Given the description of an element on the screen output the (x, y) to click on. 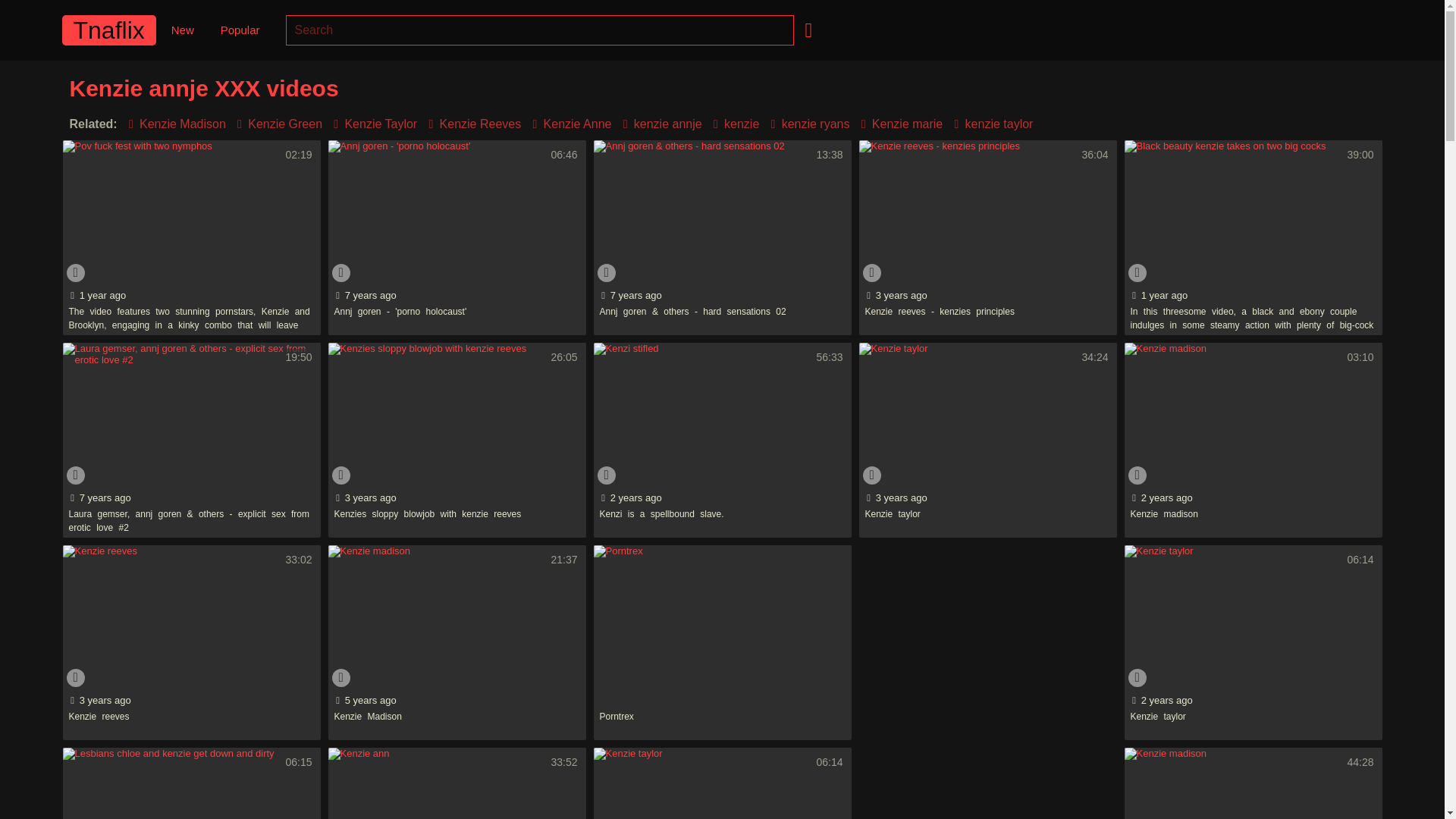
Kenzie Green (276, 124)
Popular (239, 30)
kenzie ryans (806, 124)
Kenzie Madison (173, 124)
Kenzie Reeves (471, 124)
New (182, 30)
kenzie annje (658, 124)
Kenzie marie (898, 124)
kenzie taylor (989, 124)
Tnaflix (108, 30)
